Given the description of an element on the screen output the (x, y) to click on. 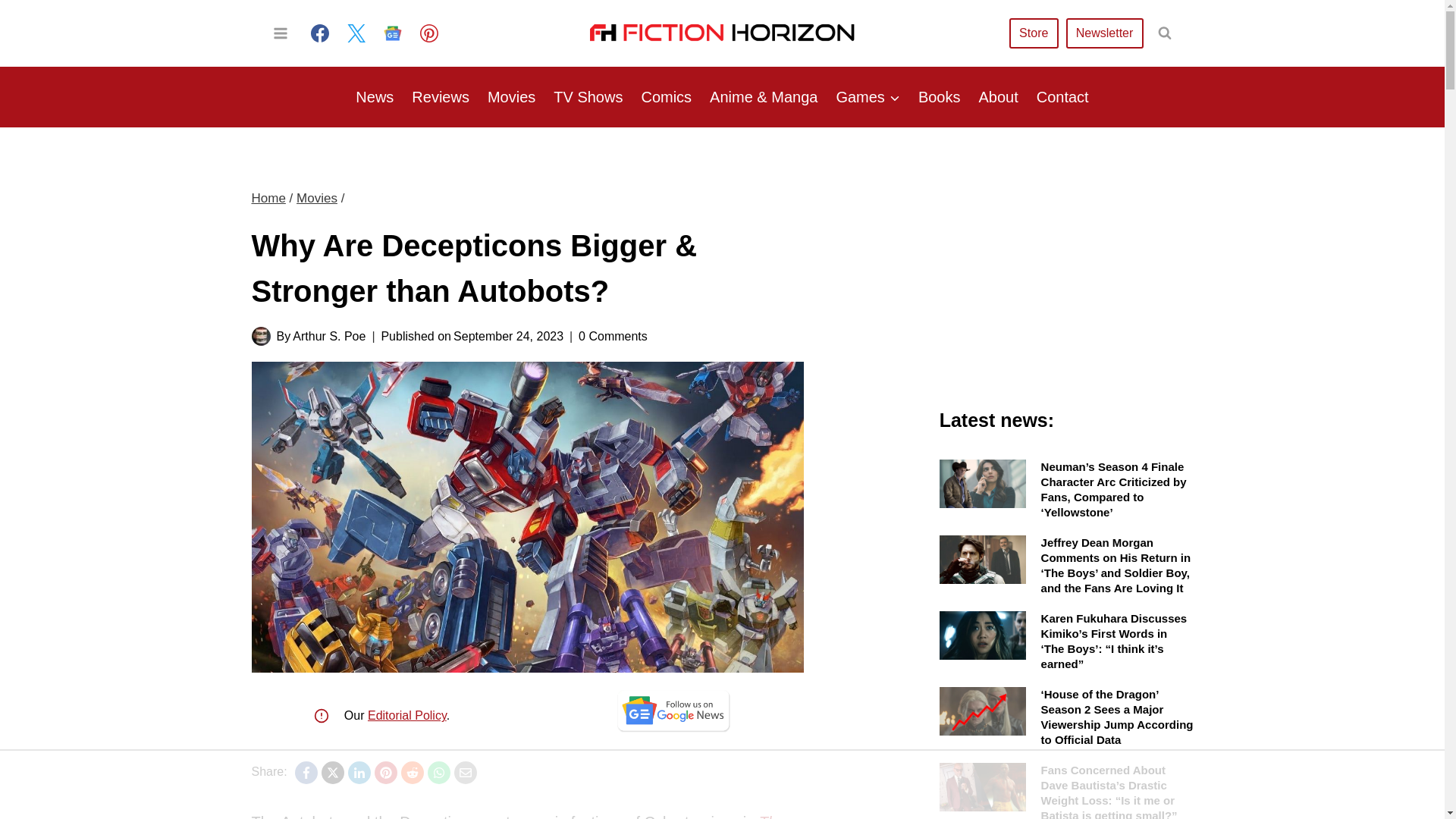
0 Comments (612, 335)
Comics (665, 96)
Arthur S. Poe (328, 336)
0 Comments (612, 335)
TV Shows (587, 96)
Editorial Policy (407, 715)
Newsletter (1103, 32)
Reviews (441, 96)
Books (938, 96)
Store (1033, 32)
Games (867, 96)
News (374, 96)
Contact (1062, 96)
